Given the description of an element on the screen output the (x, y) to click on. 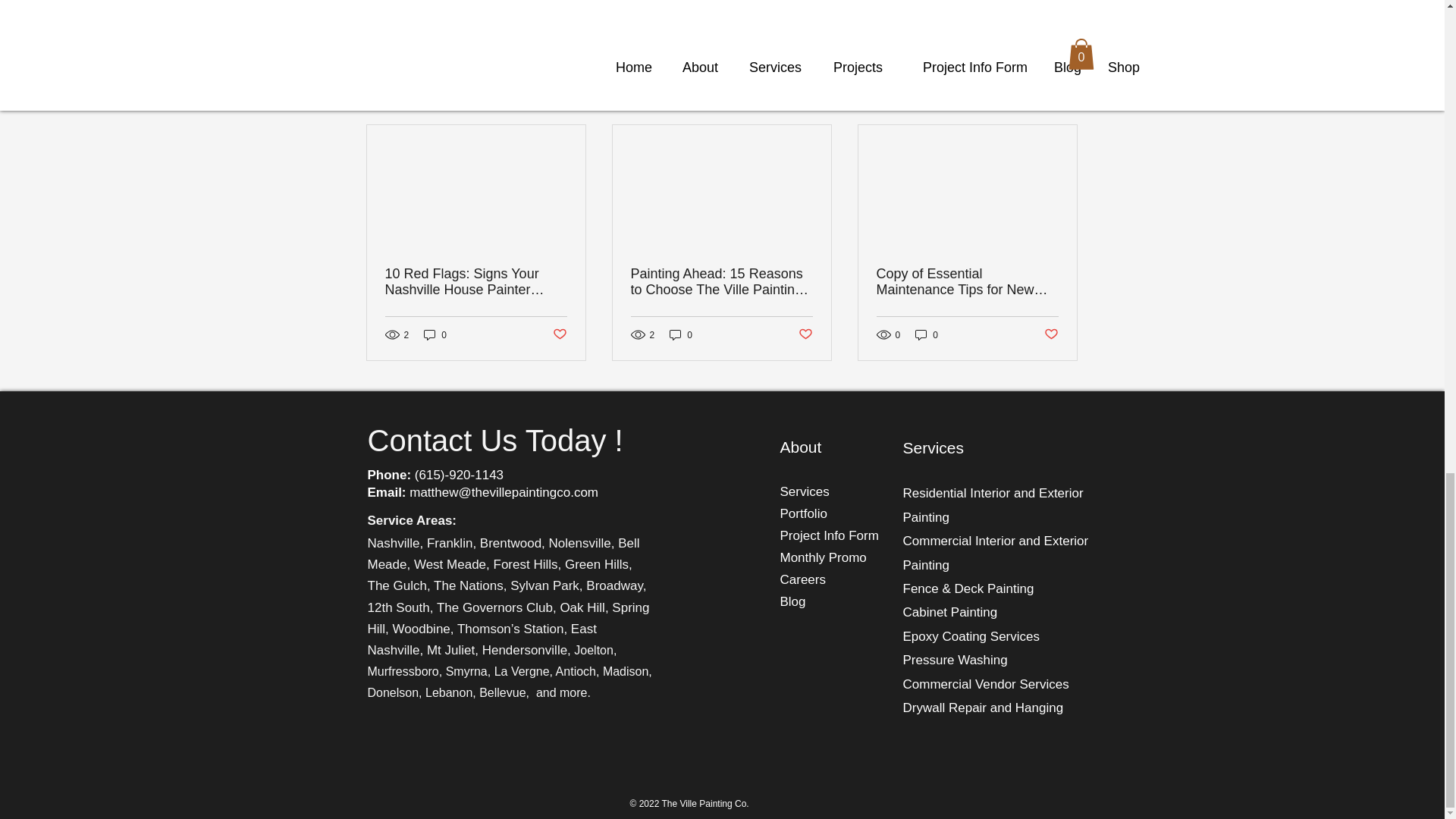
Portfolio (802, 513)
Post not marked as liked (804, 334)
Post not marked as liked (1050, 334)
Post not marked as liked (558, 334)
0 (435, 334)
Post not marked as liked (995, 15)
Project Info Form (827, 535)
Services (803, 491)
Monthly Promo (822, 557)
0 (926, 334)
Blog (791, 601)
0 (681, 334)
Careers (801, 579)
